Given the description of an element on the screen output the (x, y) to click on. 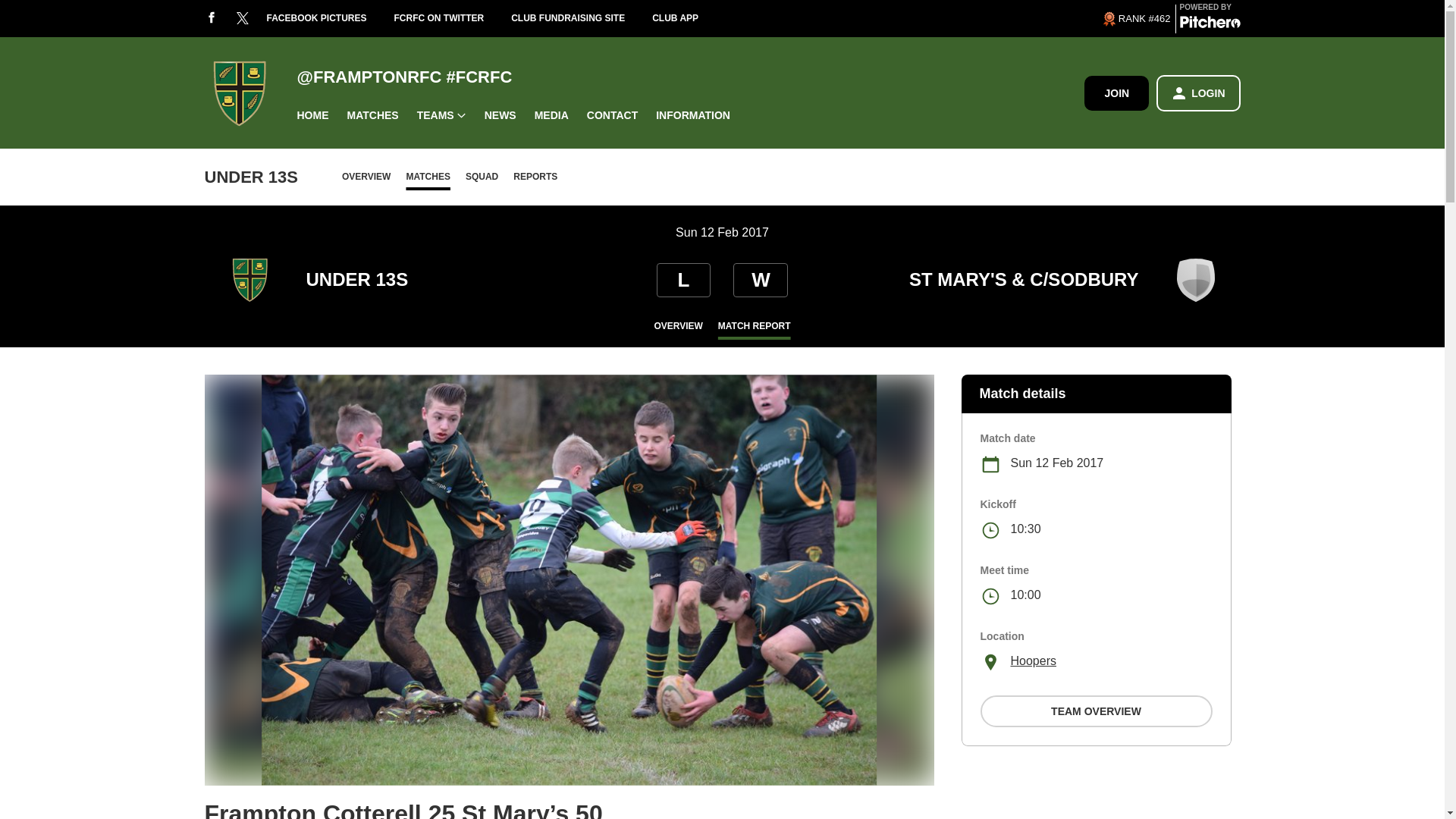
CLUB FUNDRAISING SITE (581, 18)
CLUB APP (688, 18)
MATCHES (372, 115)
INFORMATION (692, 115)
JOIN (1116, 93)
MEDIA (551, 115)
CONTACT (612, 115)
FACEBOOK PICTURES (330, 18)
OVERVIEW (365, 176)
NEWS (500, 115)
